Given the description of an element on the screen output the (x, y) to click on. 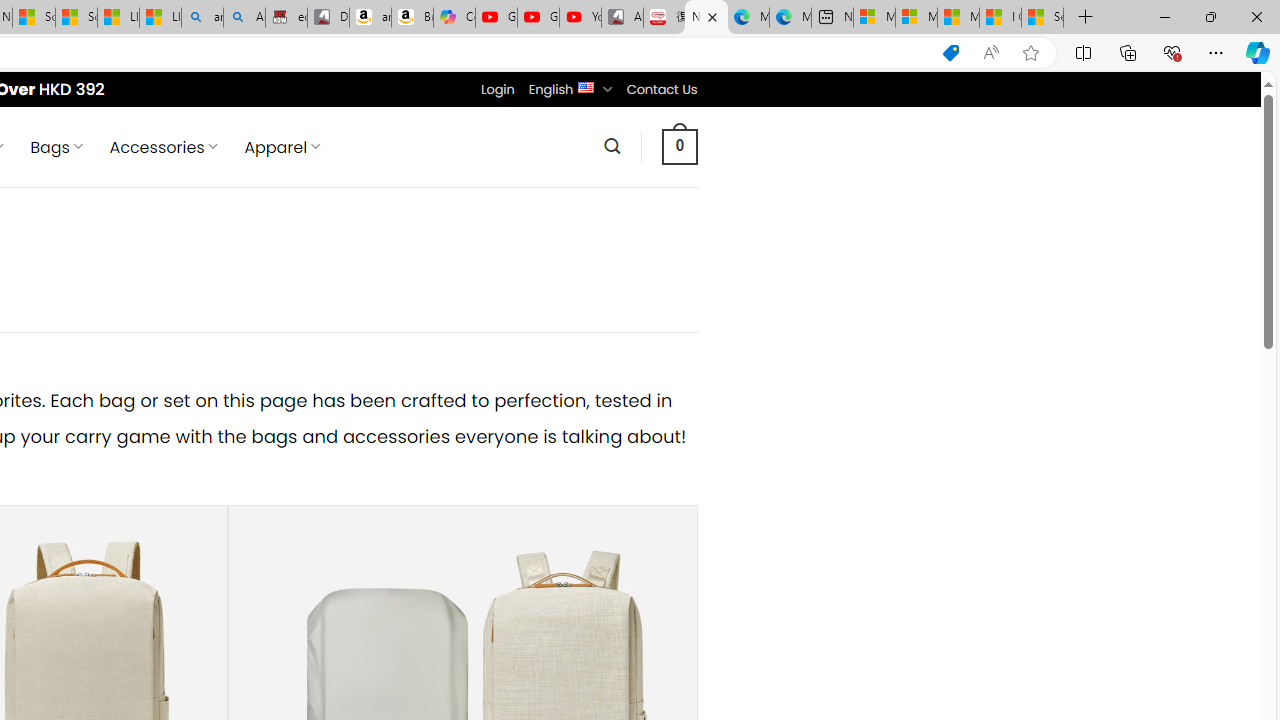
Amazon Echo Dot PNG - Search Images (244, 17)
Copilot (453, 17)
Contact Us (661, 89)
This site has coupons! Shopping in Microsoft Edge (950, 53)
amazon - Search (201, 17)
 0  (679, 146)
amazon.in/dp/B0CX59H5W7/?tag=gsmcom05-21 (369, 17)
Microsoft account | Privacy (916, 17)
